Given the description of an element on the screen output the (x, y) to click on. 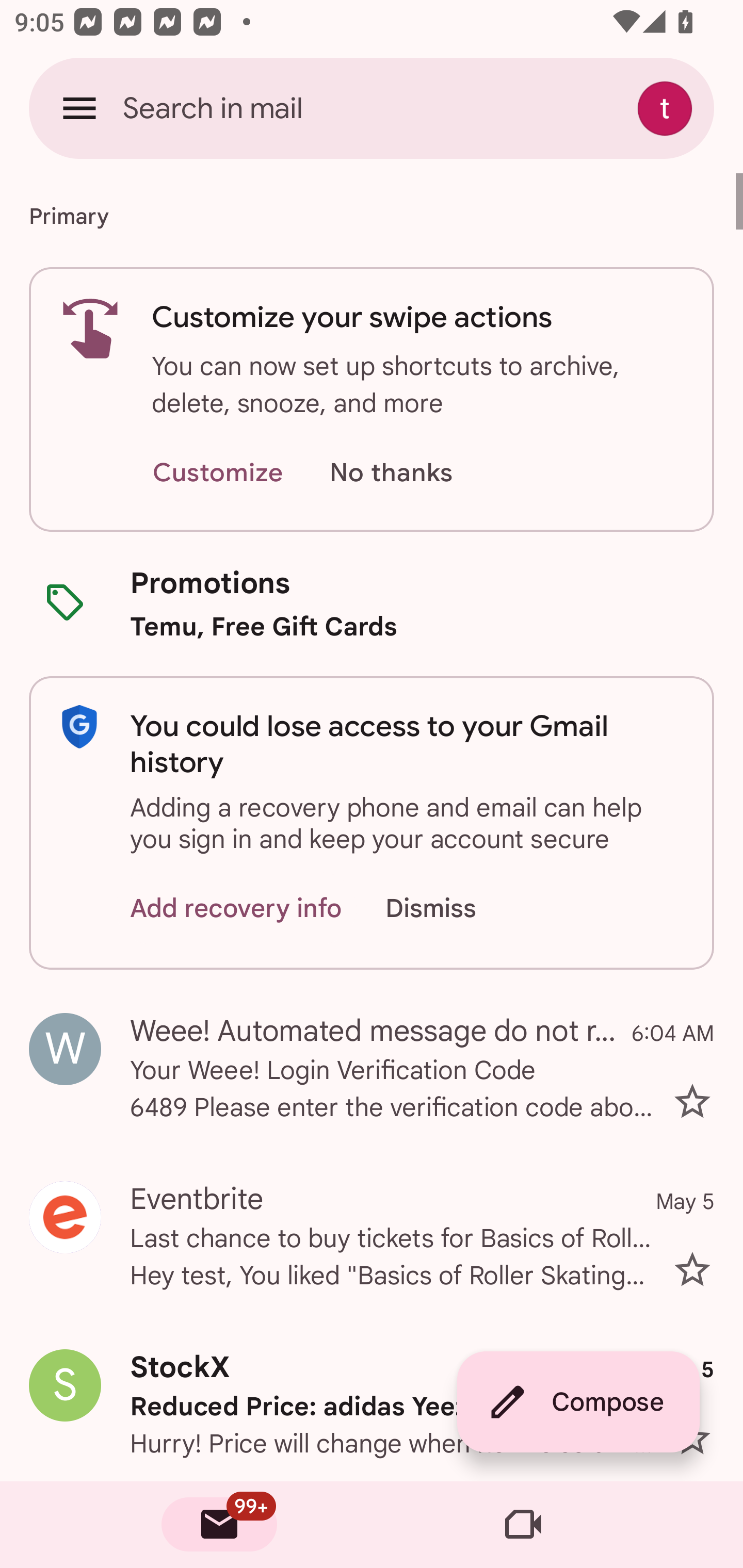
Open navigation drawer (79, 108)
Customize (217, 473)
No thanks (390, 473)
Promotions Temu, Free Gift Cards (371, 603)
Add recovery info (235, 908)
Dismiss (449, 908)
Compose (577, 1401)
Meet (523, 1524)
